Given the description of an element on the screen output the (x, y) to click on. 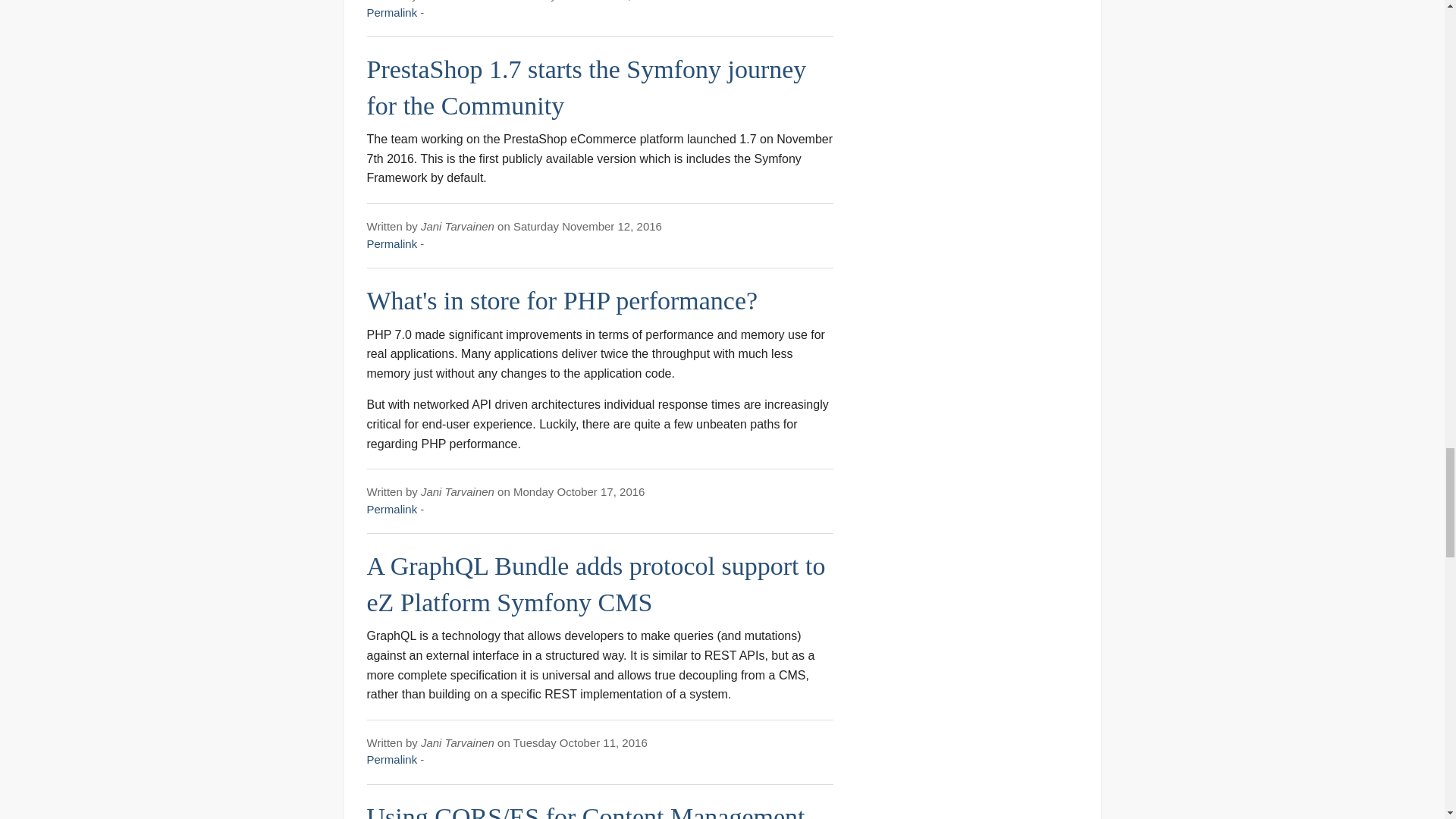
PrestaShop 1.7 starts the Symfony journey for the Community (586, 87)
Permalink (391, 11)
